Given the description of an element on the screen output the (x, y) to click on. 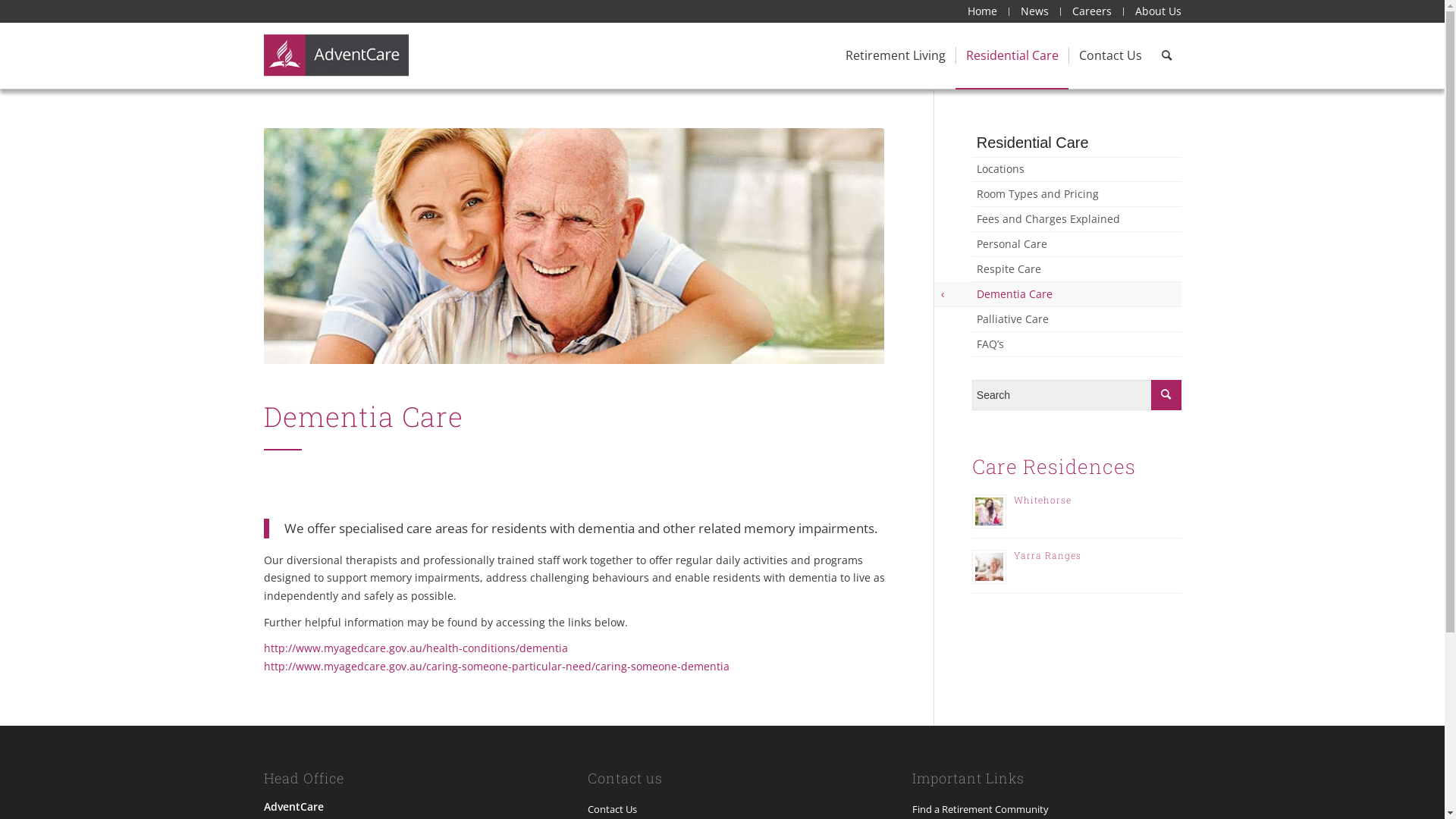
Personal Care Element type: text (1076, 244)
Retirement Living Element type: text (895, 54)
Palliative Care Element type: text (1076, 319)
AdventCare_Nurse_Cuddle_845x321 Element type: hover (573, 246)
Whitehorse Element type: text (1042, 499)
Residential Care Element type: text (1076, 142)
Respite Care Element type: text (1076, 269)
Dementia Care Element type: text (1076, 294)
Fees and Charges Explained Element type: text (1076, 219)
Room Types and Pricing Element type: text (1076, 194)
Residential Care Element type: text (1011, 54)
Yarra Ranges Element type: text (1047, 555)
Contact Us Element type: text (1109, 54)
Locations Element type: text (1076, 168)
http://www.myagedcare.gov.au/health-conditions/dementia Element type: text (415, 647)
